Given the description of an element on the screen output the (x, y) to click on. 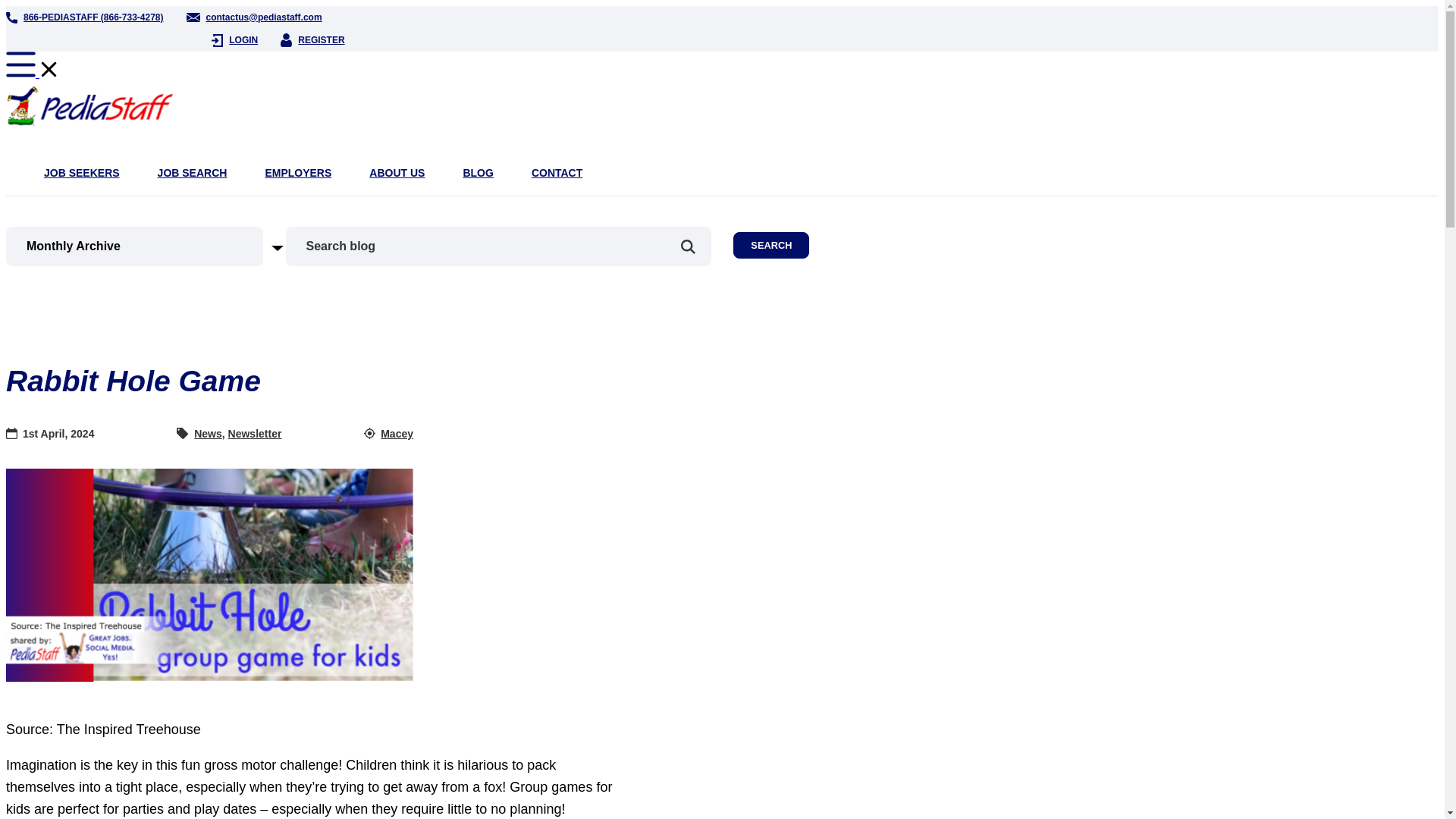
LOGIN (234, 39)
JOB SEARCH (192, 173)
BLOG (478, 173)
JOB SEEKERS (81, 173)
Monthly Archive (154, 246)
CONTACT (556, 173)
EMPLOYERS (297, 173)
REGISTER (312, 39)
SEARCH (771, 244)
ABOUT US (397, 173)
